Given the description of an element on the screen output the (x, y) to click on. 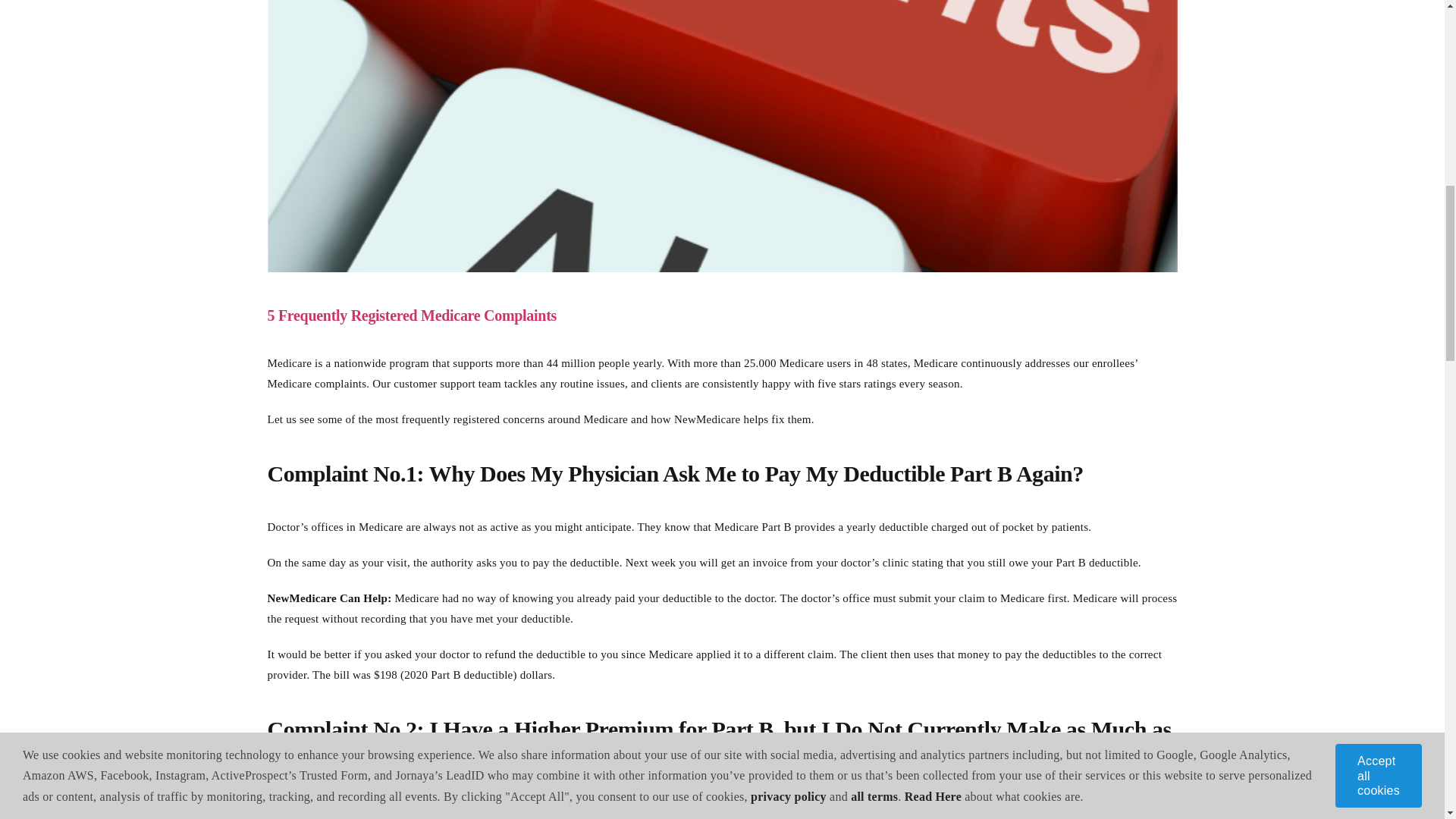
Medicare Part B (753, 526)
